Given the description of an element on the screen output the (x, y) to click on. 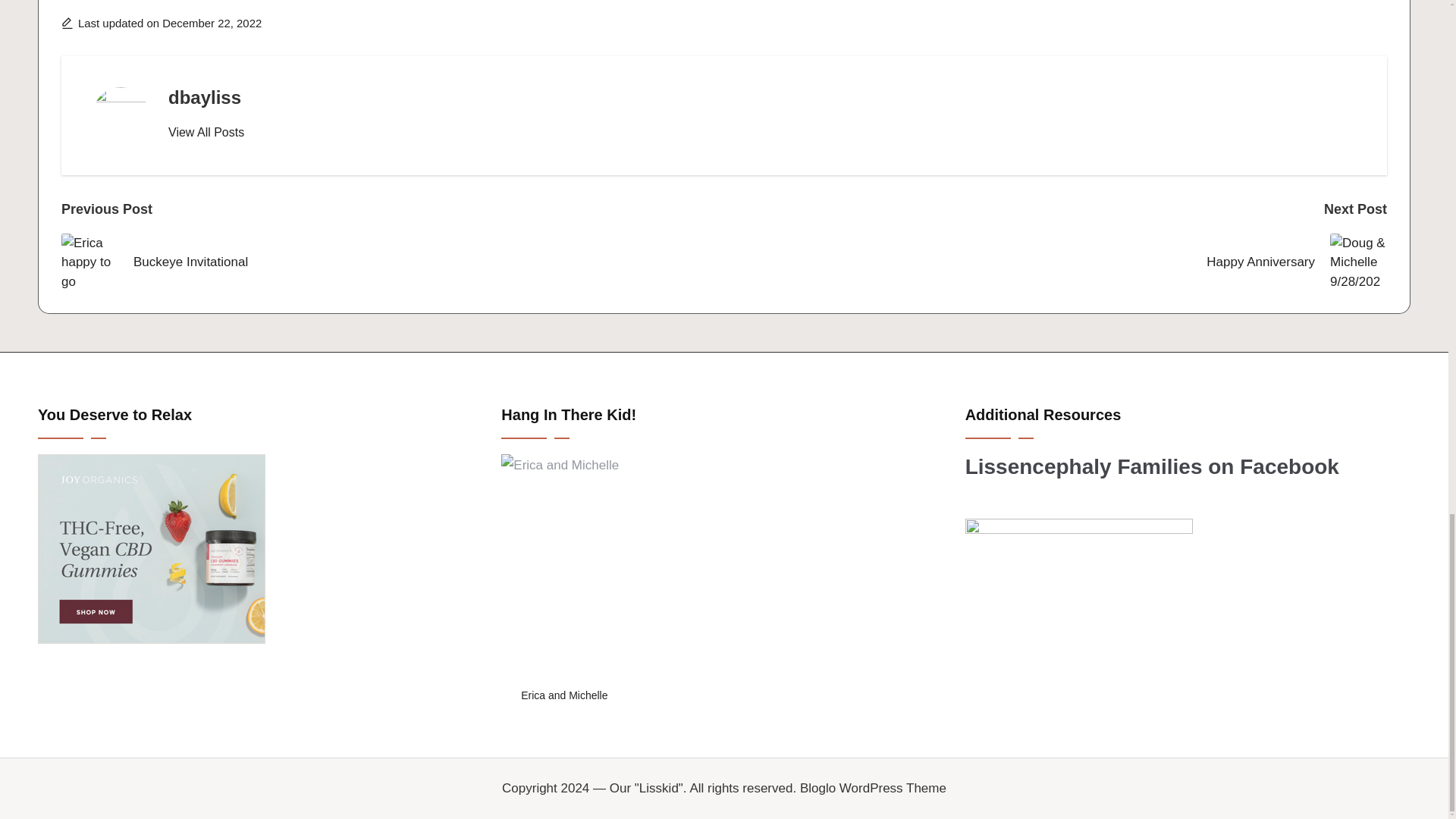
Bloglo WordPress Theme (872, 788)
Lissencephaly Families on Facebook (1152, 466)
Buckeye Invitational (392, 261)
View All Posts (206, 132)
Happy Anniversary (1055, 261)
dbayliss (204, 96)
